Given the description of an element on the screen output the (x, y) to click on. 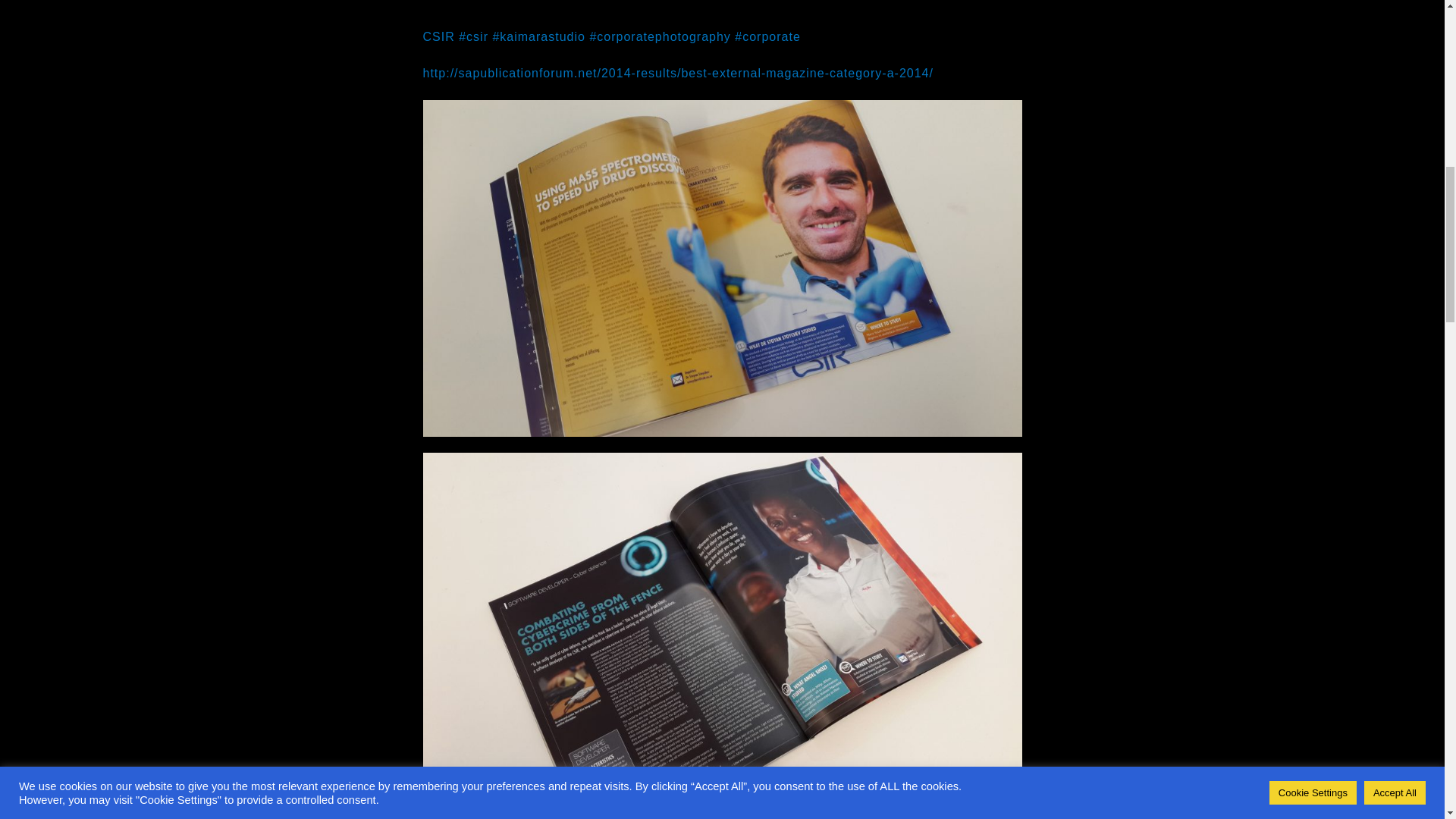
CSIR (438, 36)
